Given the description of an element on the screen output the (x, y) to click on. 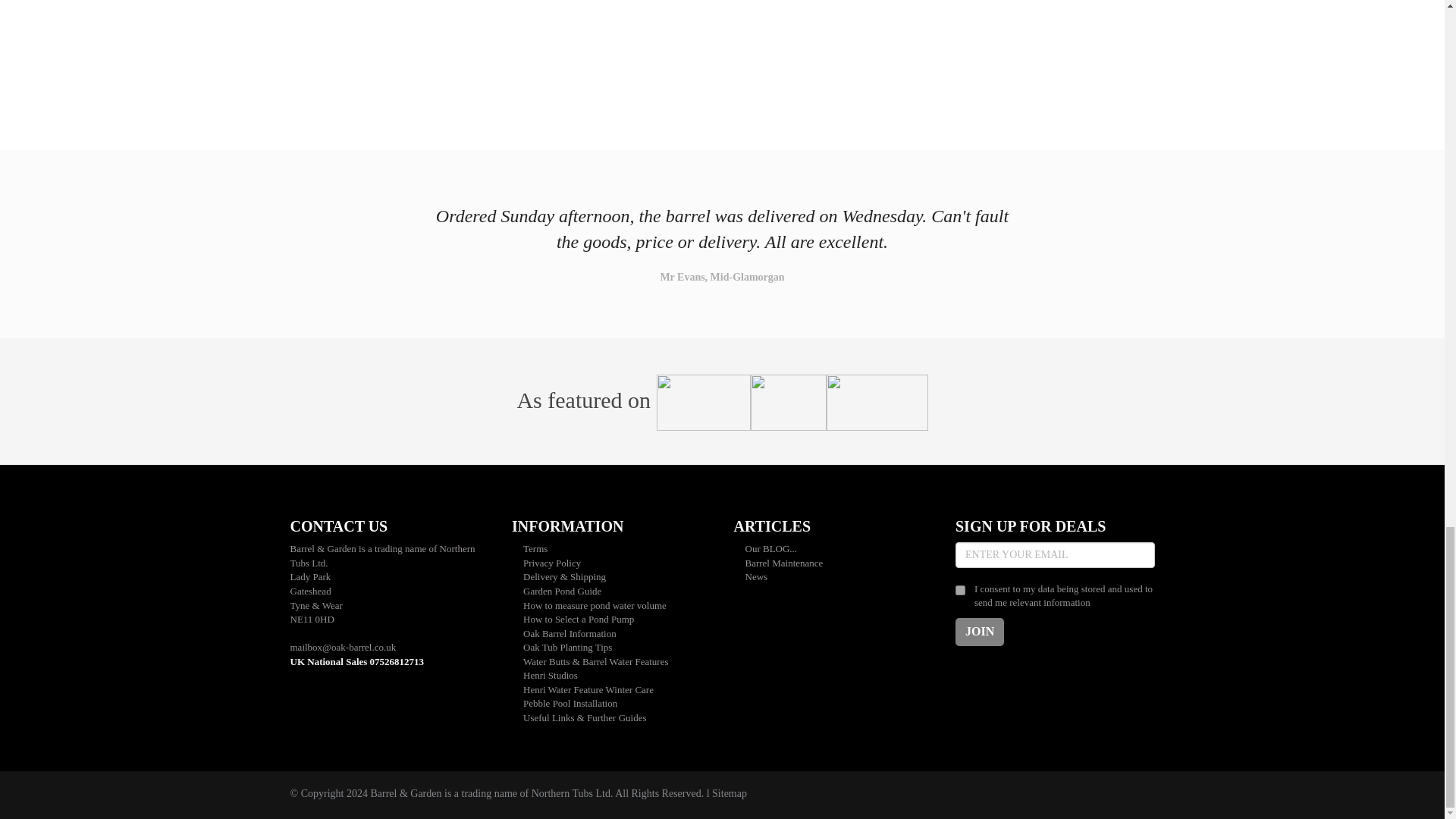
on (960, 590)
